Given the description of an element on the screen output the (x, y) to click on. 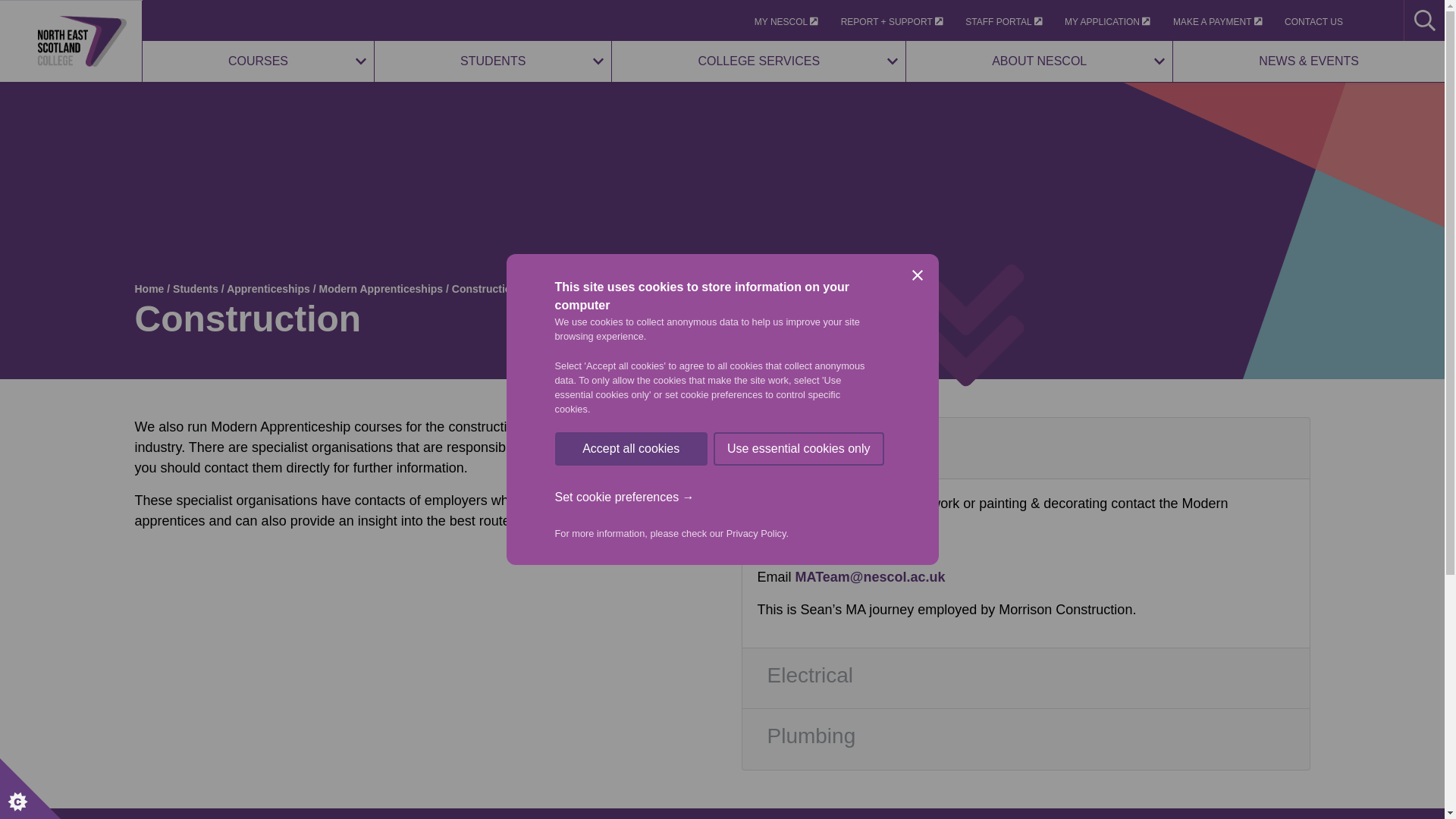
COURSES (258, 60)
Privacy Policy (756, 767)
MY APPLICATION (1107, 21)
CONTACT US (1313, 21)
STAFF PORTAL (1003, 21)
Accept all cookies (630, 817)
Use essential cookies only (798, 790)
MAKE A PAYMENT (1217, 21)
MY NESCOL (786, 21)
